Given the description of an element on the screen output the (x, y) to click on. 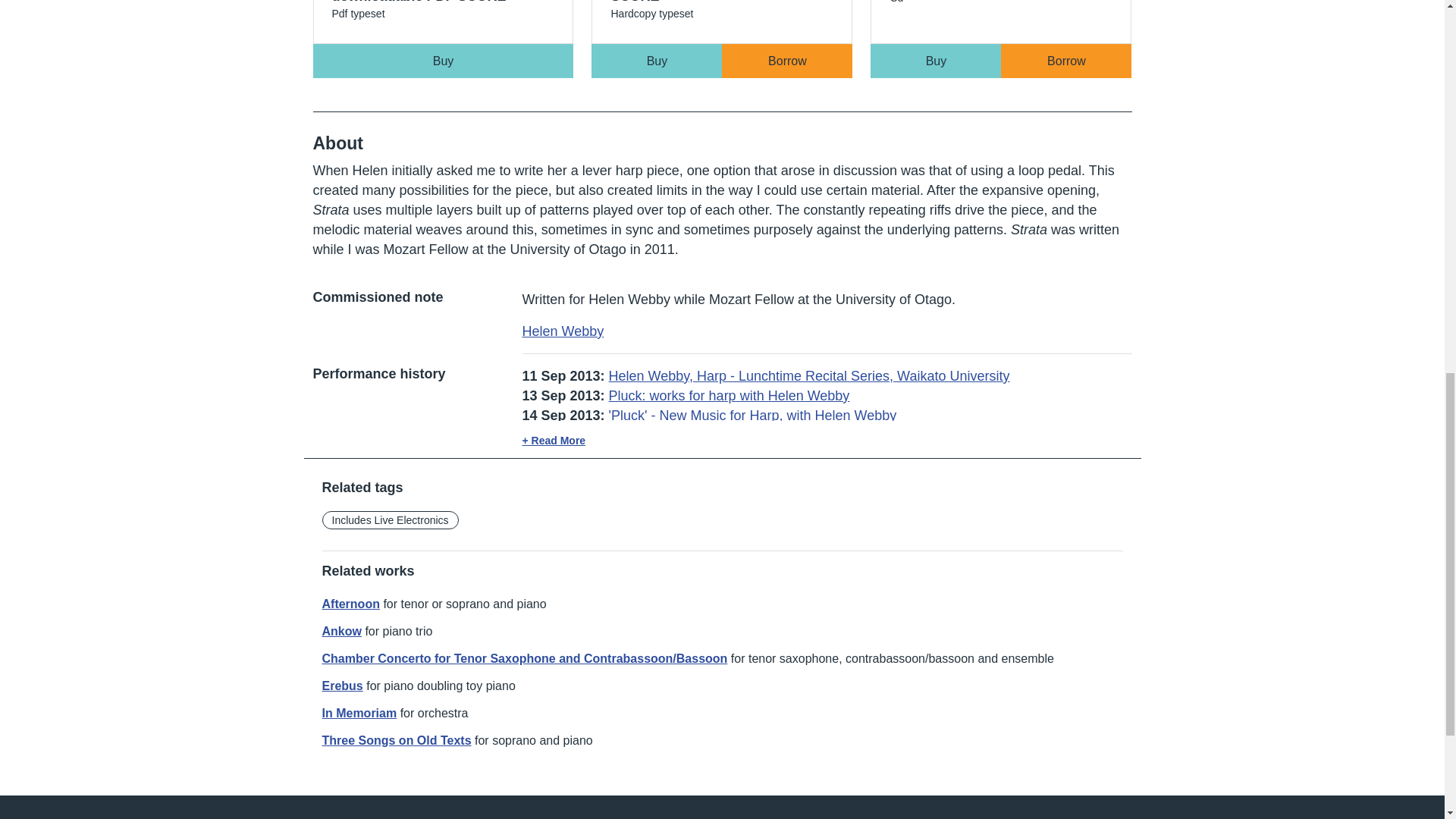
Helen Webby (562, 331)
Borrow (786, 60)
Borrow (1066, 60)
Buy (656, 60)
Buy (1000, 33)
Buy (935, 60)
'Pluck' - New Music for Harp, with Helen Webby (721, 33)
Pluck: works for harp with Helen Webby (443, 60)
